Given the description of an element on the screen output the (x, y) to click on. 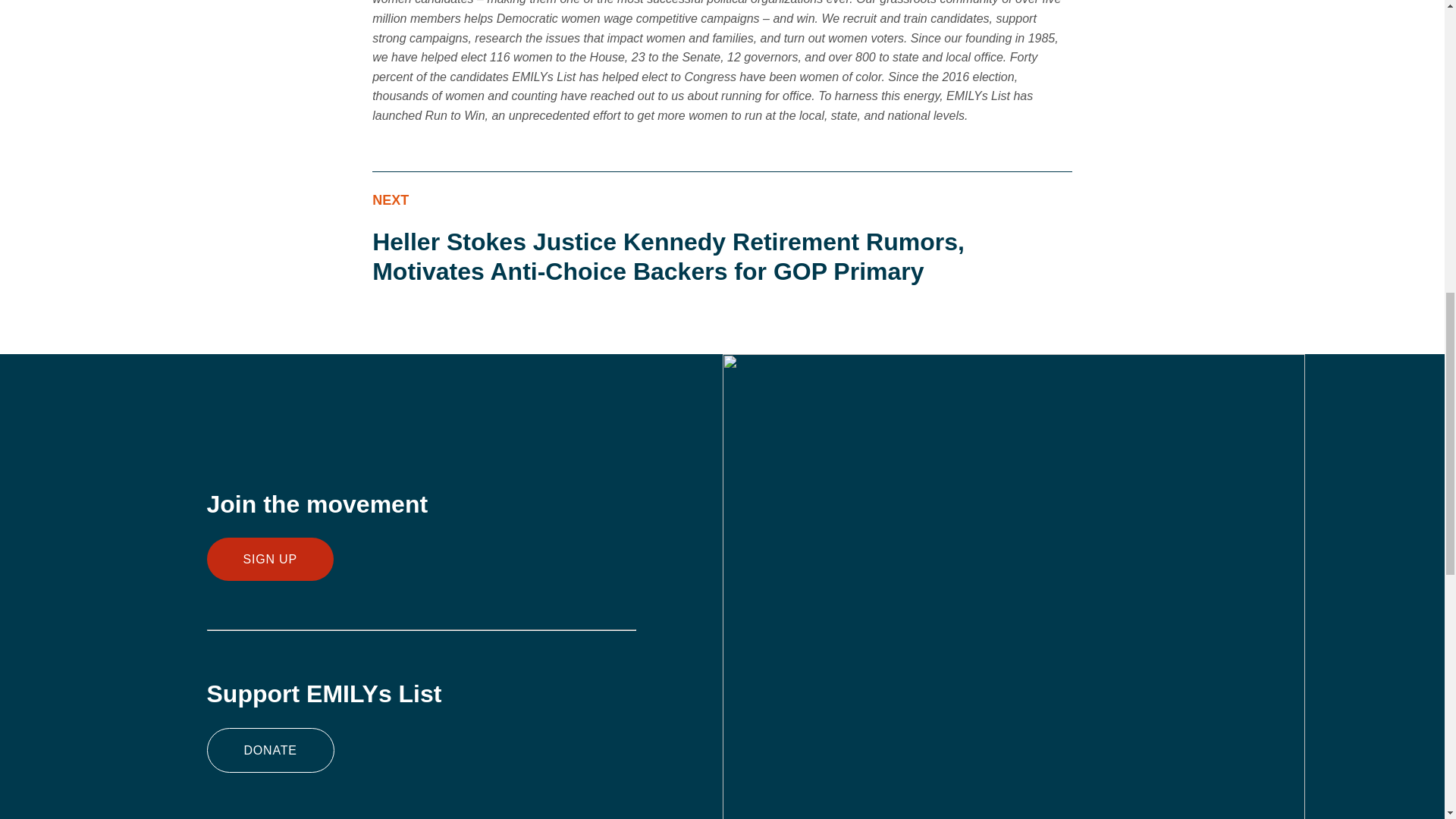
SIGN UP (269, 558)
DONATE (269, 750)
